Given the description of an element on the screen output the (x, y) to click on. 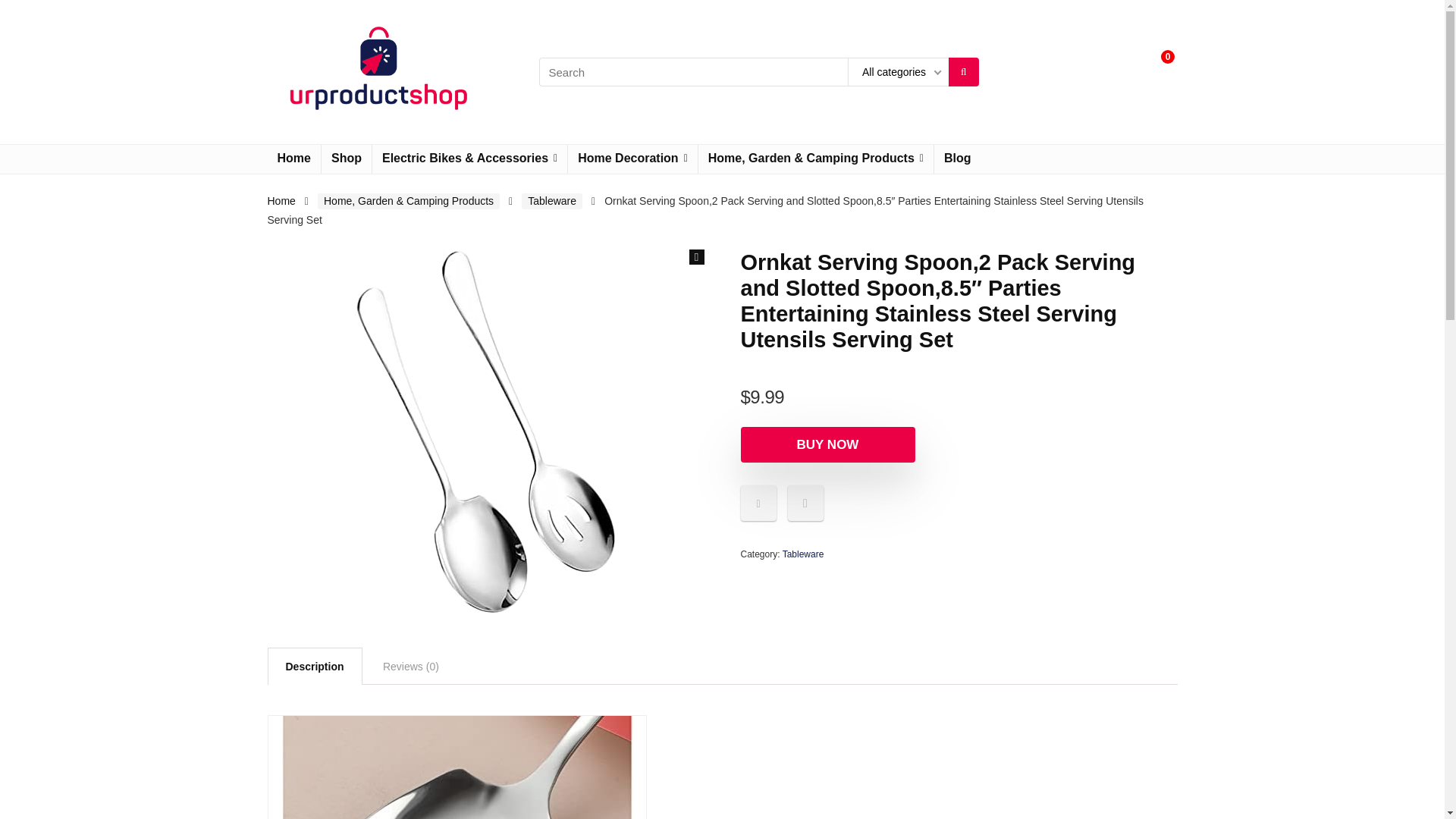
Blog (957, 158)
Home Decoration (632, 158)
Shop (346, 158)
Home (293, 158)
